Given the description of an element on the screen output the (x, y) to click on. 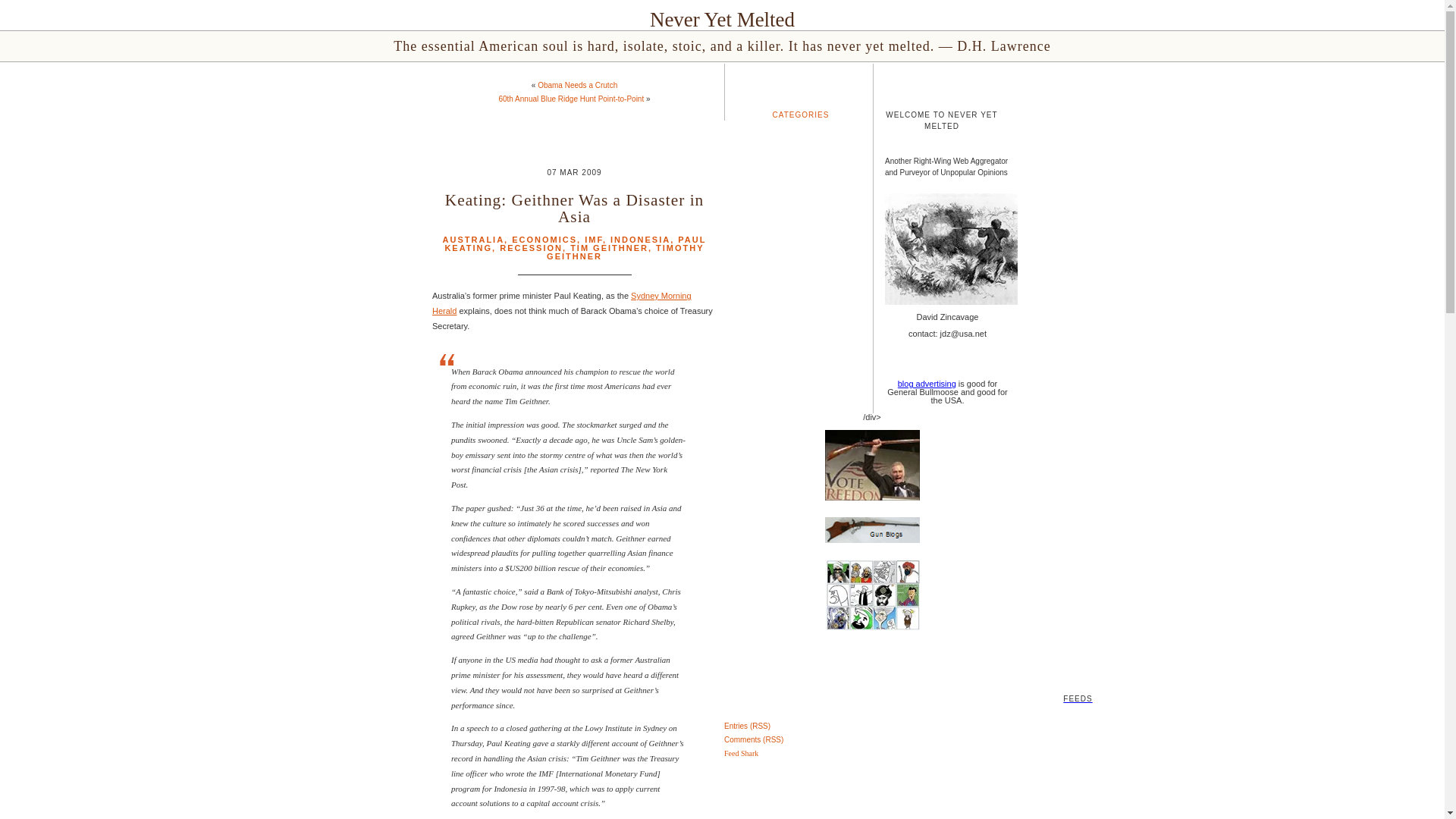
Never Yet Melted (721, 19)
Sydney Morning Herald (561, 303)
Keating: Geithner Was a Disaster in Asia (574, 207)
AUSTRALIA (473, 239)
RECESSION (530, 247)
Obama Needs a Crutch (577, 85)
blog advertising (927, 383)
ECONOMICS (544, 239)
IMF (593, 239)
TIM GEITHNER (608, 247)
Feed Shark (740, 753)
TIMOTHY GEITHNER (625, 252)
FEEDS (721, 675)
60th Annual Blue Ridge Hunt Point-to-Point (570, 99)
INDONESIA (639, 239)
